Given the description of an element on the screen output the (x, y) to click on. 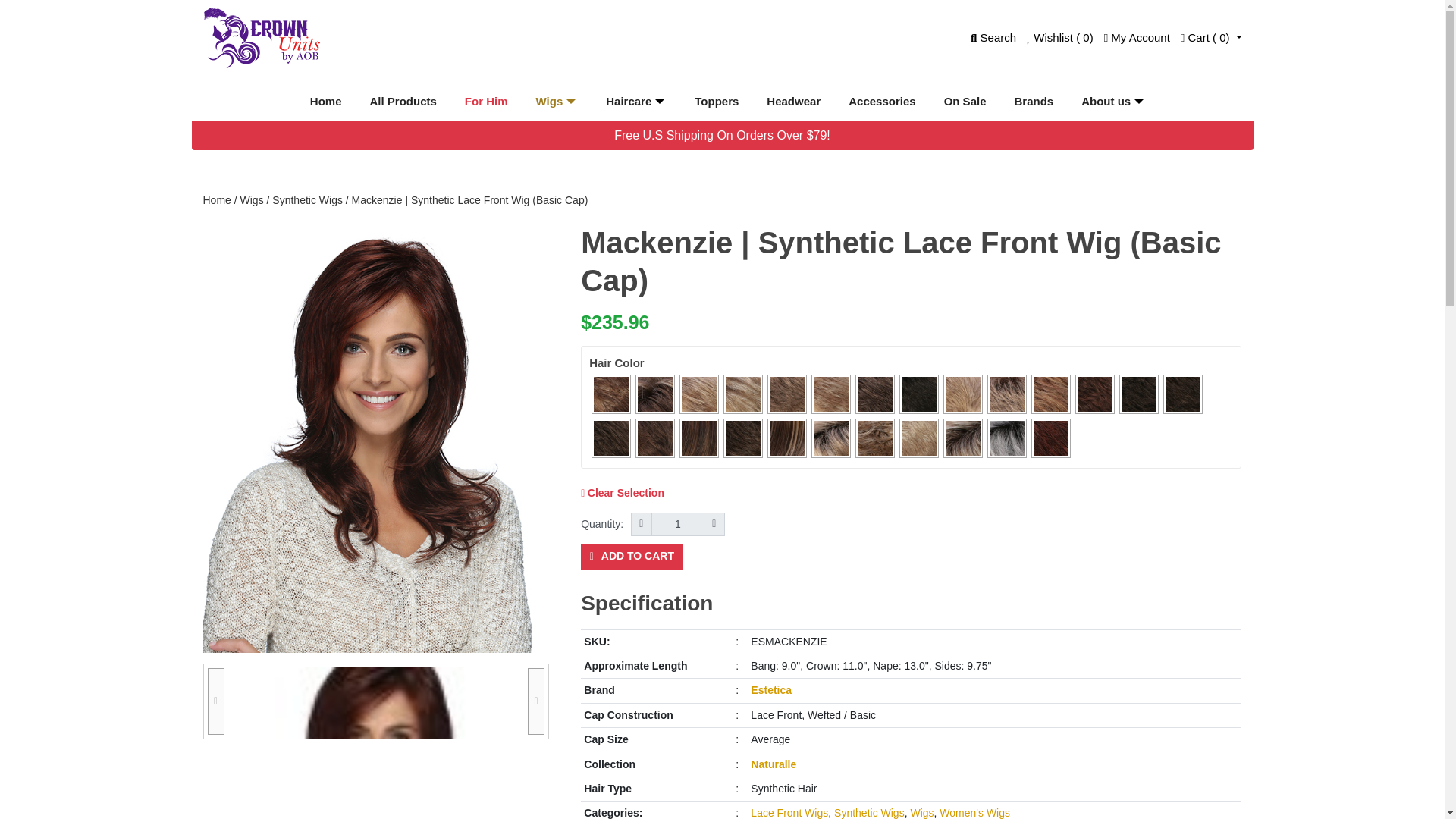
Haircare (627, 101)
Toppers (715, 101)
Menu item: Home (325, 101)
All Products (402, 101)
Accessories (881, 101)
For Him (486, 101)
Home (217, 200)
Dropdown Menu (570, 98)
Menu item: For Him (486, 101)
My Account (1136, 37)
On Sale (965, 101)
About us (1105, 101)
Brands (1033, 101)
Menu item: All Products (402, 101)
View your shopping cart (1210, 37)
